Given the description of an element on the screen output the (x, y) to click on. 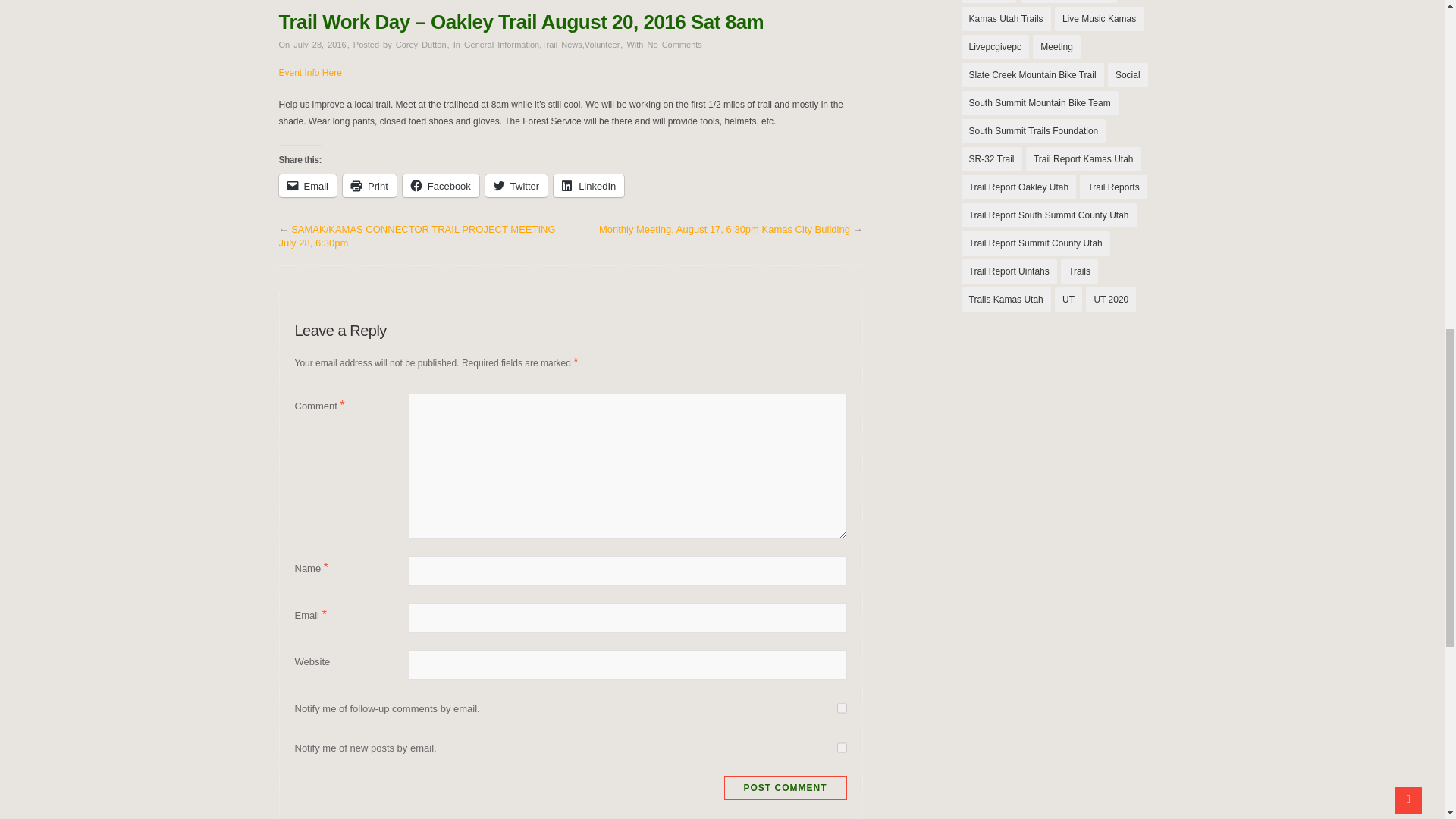
Facebook (441, 185)
Hike Utah (988, 1)
Monthly Meeting, August 17, 6:30pm Kamas City Building (724, 229)
Click to print (369, 185)
Click to share on LinkedIn (588, 185)
Event Info Here (310, 72)
Click to share on Facebook (441, 185)
Post Comment (784, 787)
Posts by Corey Dutton (421, 44)
No Comments (674, 44)
